Given the description of an element on the screen output the (x, y) to click on. 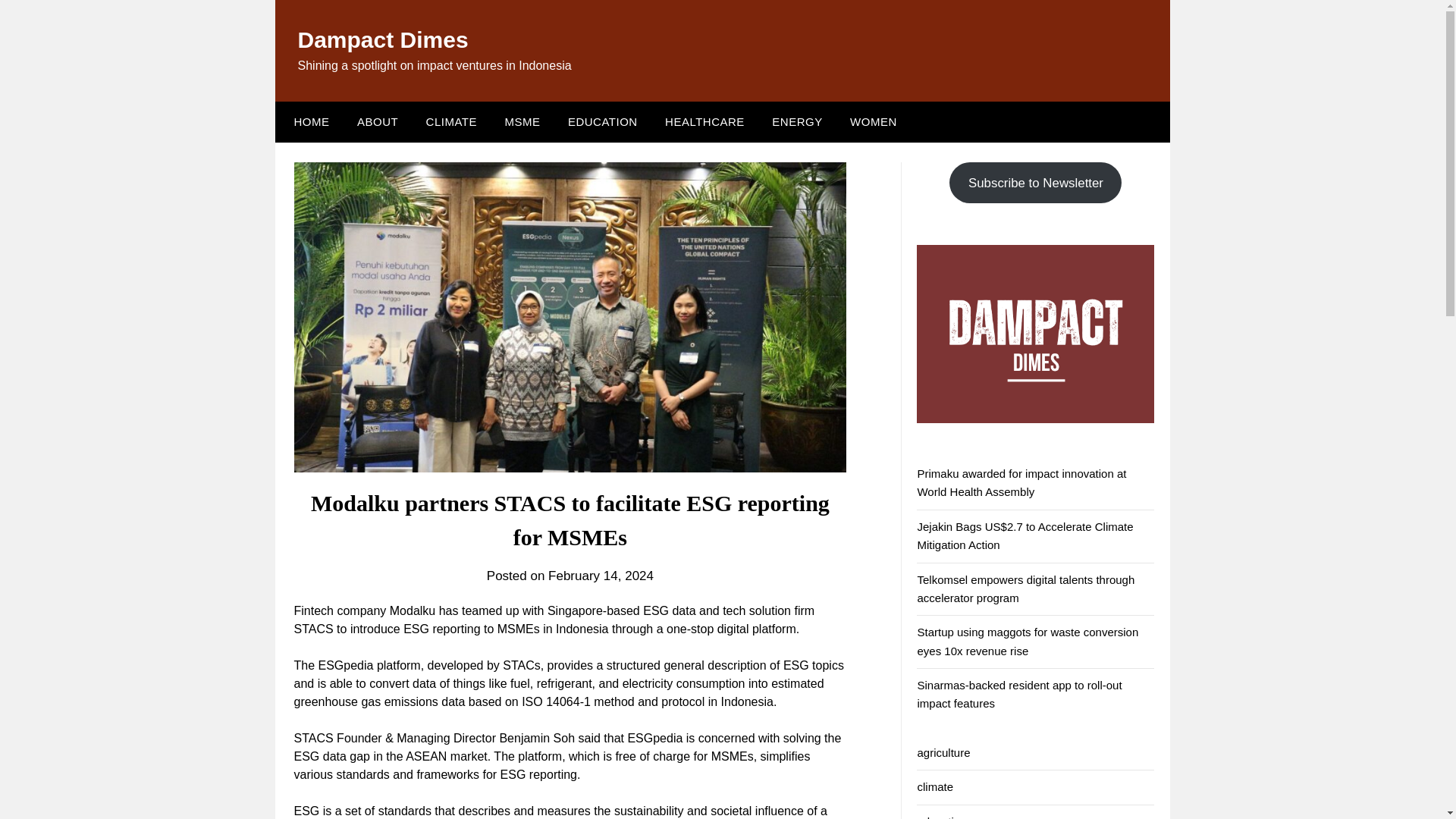
MSME (521, 121)
agriculture (943, 752)
WOMEN (873, 121)
EDUCATION (602, 121)
Subscribe to Newsletter (1035, 182)
ABOUT (377, 121)
climate (935, 786)
HEALTHCARE (704, 121)
Sinarmas-backed resident app to roll-out impact features (1019, 694)
